Given the description of an element on the screen output the (x, y) to click on. 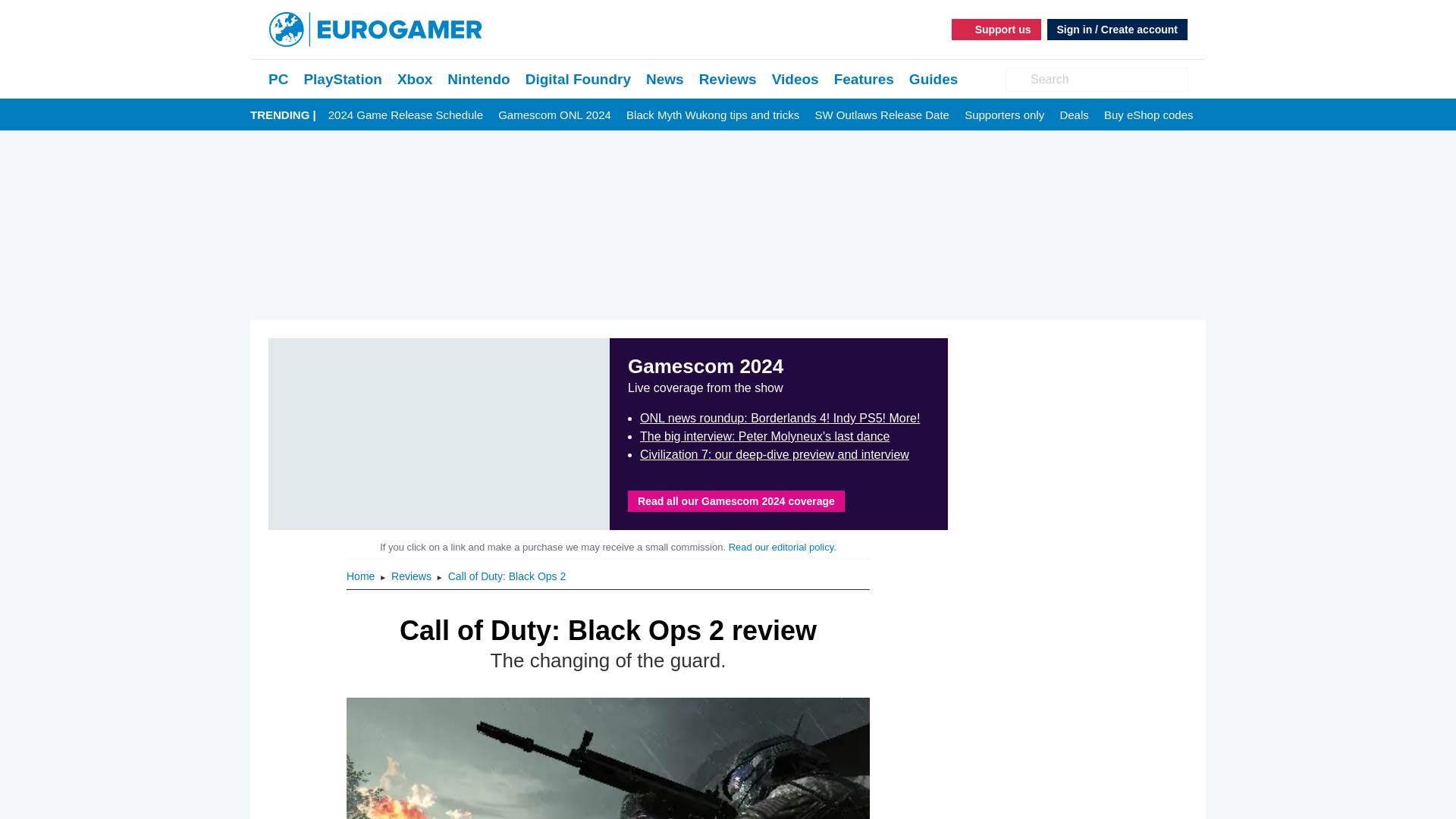
ONL news roundup: Borderlands 4! Indy PS5! More! (780, 418)
Reviews (727, 78)
Gamescom ONL 2024 (554, 114)
Black Myth Wukong tips and tricks (712, 114)
Civilization 7: our deep-dive preview and interview (774, 454)
Reviews (727, 78)
The big interview: Peter Molyneux's last dance (764, 436)
Supporters only (1003, 114)
Guides (933, 78)
Videos (794, 78)
